Given the description of an element on the screen output the (x, y) to click on. 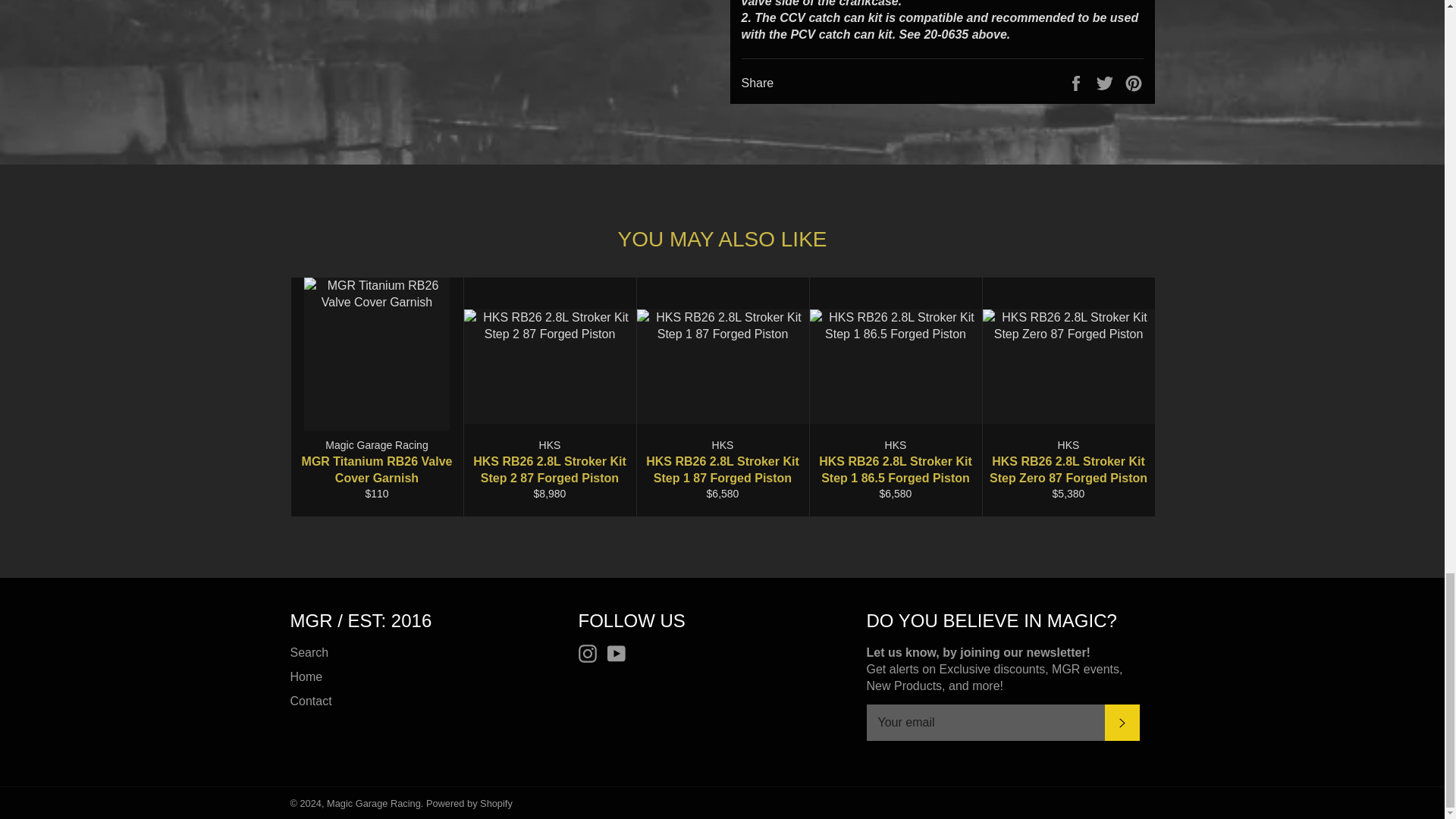
Magic Garage Racing on Instagram (591, 653)
Magic Garage Racing on YouTube (620, 653)
Pin on Pinterest (1133, 82)
Tweet on Twitter (1106, 82)
Share on Facebook (1077, 82)
